Given the description of an element on the screen output the (x, y) to click on. 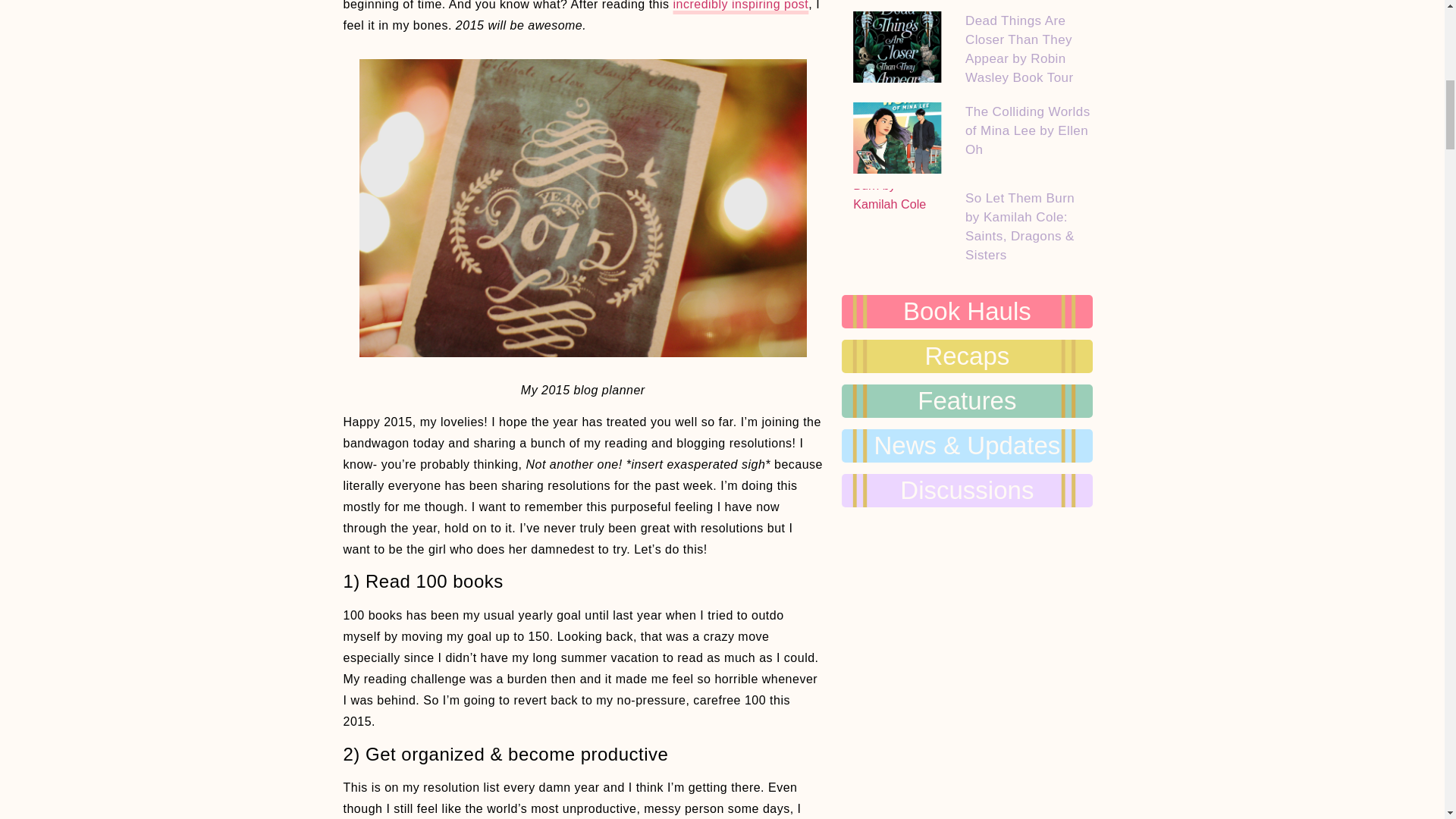
incredibly inspiring post (740, 5)
The Colliding Worlds of Mina Lee by Ellen Oh (1027, 130)
